Given the description of an element on the screen output the (x, y) to click on. 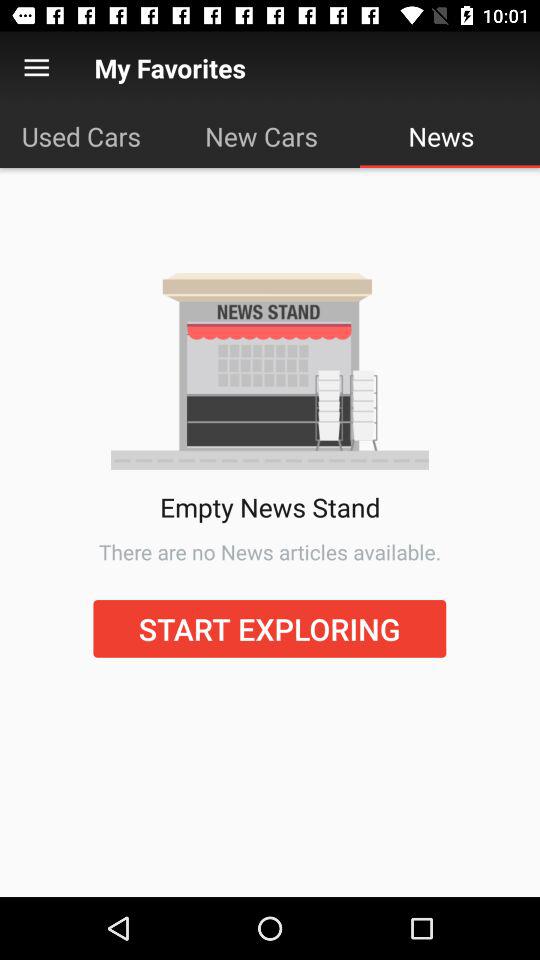
click item next to my favorites icon (36, 68)
